Given the description of an element on the screen output the (x, y) to click on. 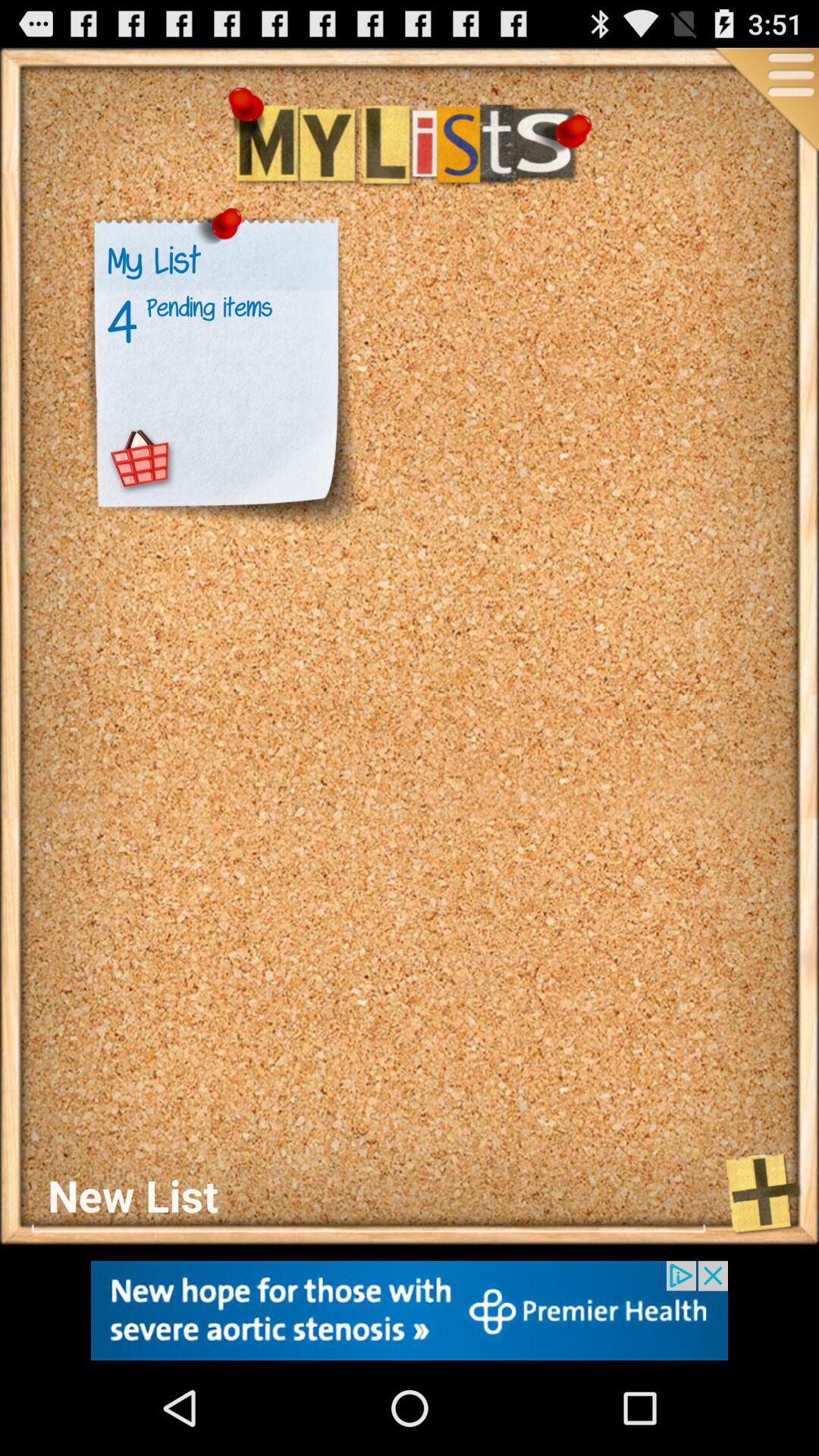
red and white tote bag (141, 460)
